Given the description of an element on the screen output the (x, y) to click on. 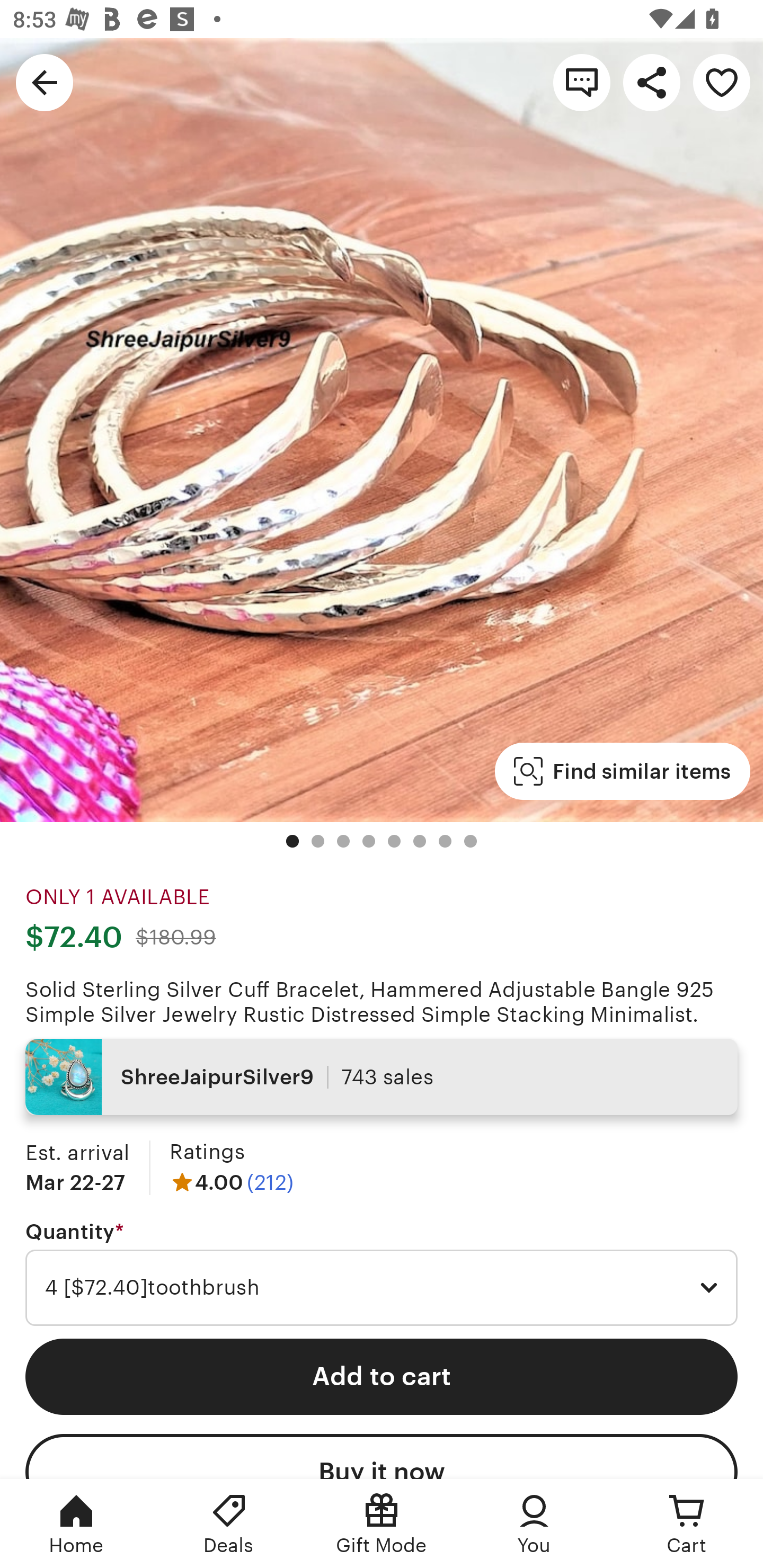
Navigate up (44, 81)
Contact shop (581, 81)
Share (651, 81)
Find similar items (622, 771)
ShreeJaipurSilver9 743 sales (381, 1076)
Ratings (206, 1151)
4.00 (212) (231, 1181)
Quantity * Required 4 [$72.40]toothbrush (381, 1272)
4 [$72.40]toothbrush (381, 1287)
Add to cart (381, 1376)
Deals (228, 1523)
Gift Mode (381, 1523)
You (533, 1523)
Cart (686, 1523)
